Given the description of an element on the screen output the (x, y) to click on. 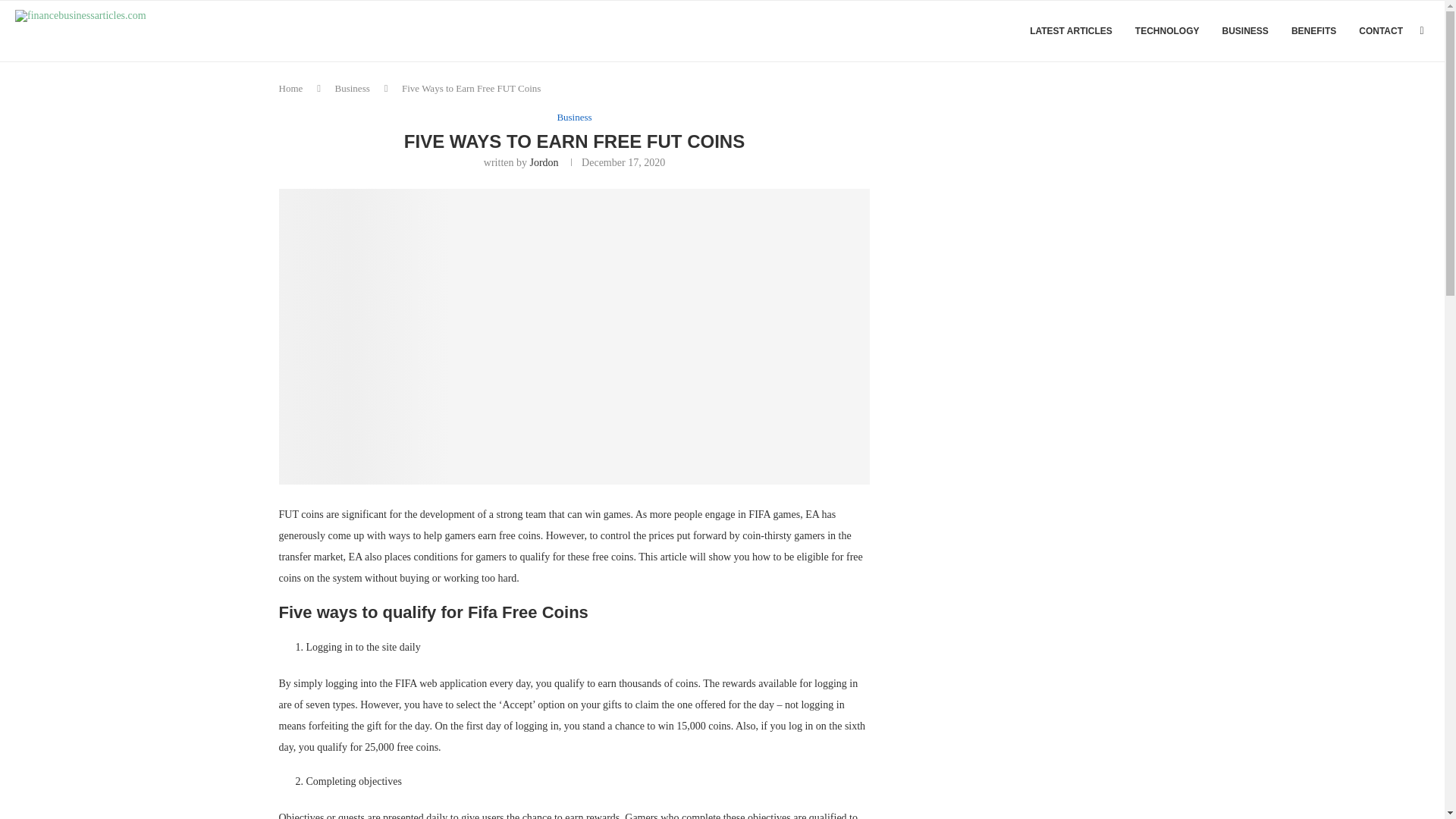
TECHNOLOGY (1167, 30)
Business (351, 88)
Home (290, 88)
Jordon (543, 162)
Business (573, 117)
LATEST ARTICLES (1070, 30)
